Given the description of an element on the screen output the (x, y) to click on. 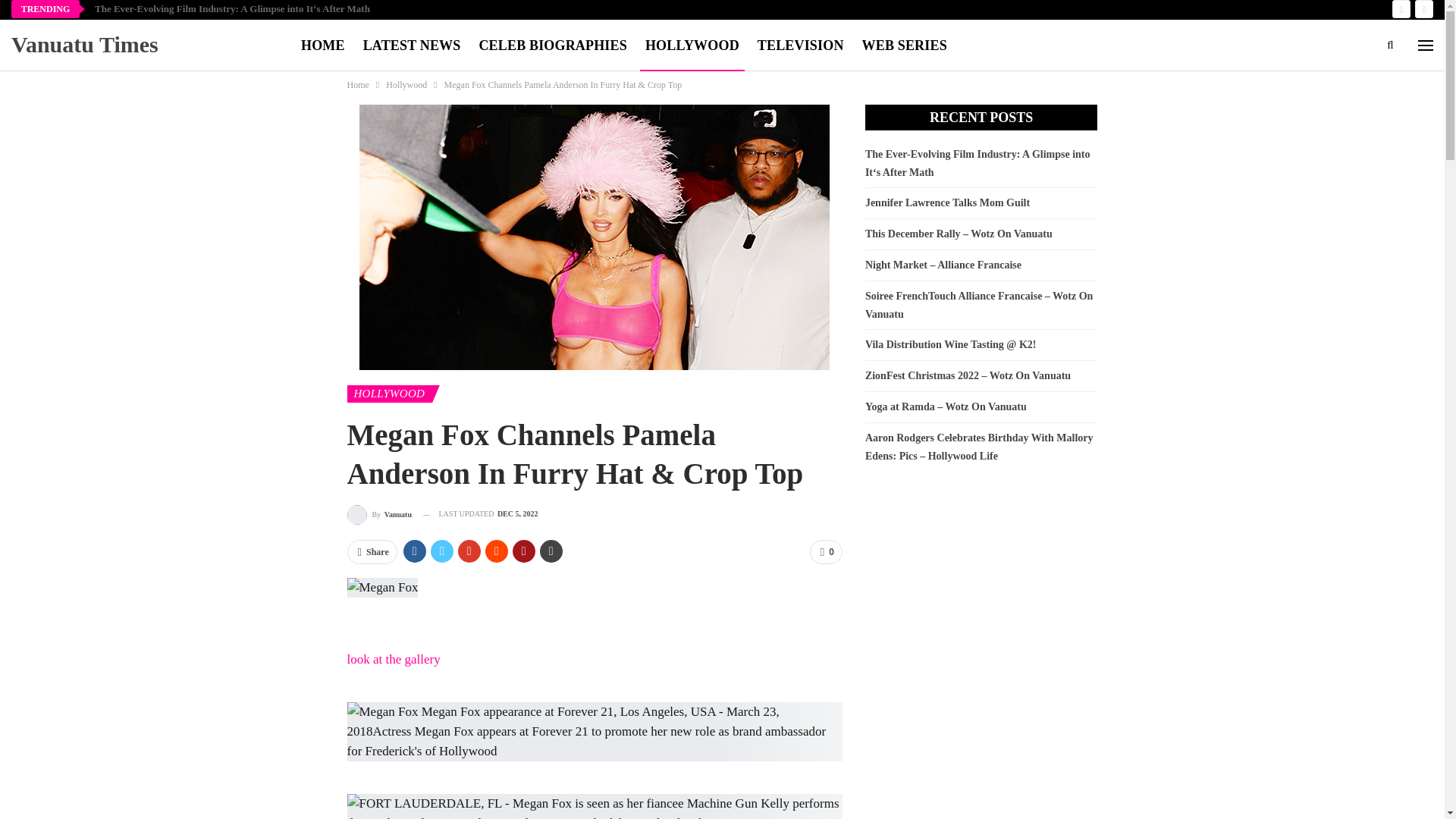
LATEST NEWS (411, 45)
Home (358, 84)
TELEVISION (800, 45)
Vanuatu Times (88, 43)
0 (826, 551)
CELEB BIOGRAPHIES (552, 45)
By Vanuatu (379, 514)
Browse Author Articles (379, 514)
HOLLYWOOD (389, 393)
HOLLYWOOD (692, 45)
HOME (322, 45)
Hollywood (405, 84)
WEB SERIES (904, 45)
